Given the description of an element on the screen output the (x, y) to click on. 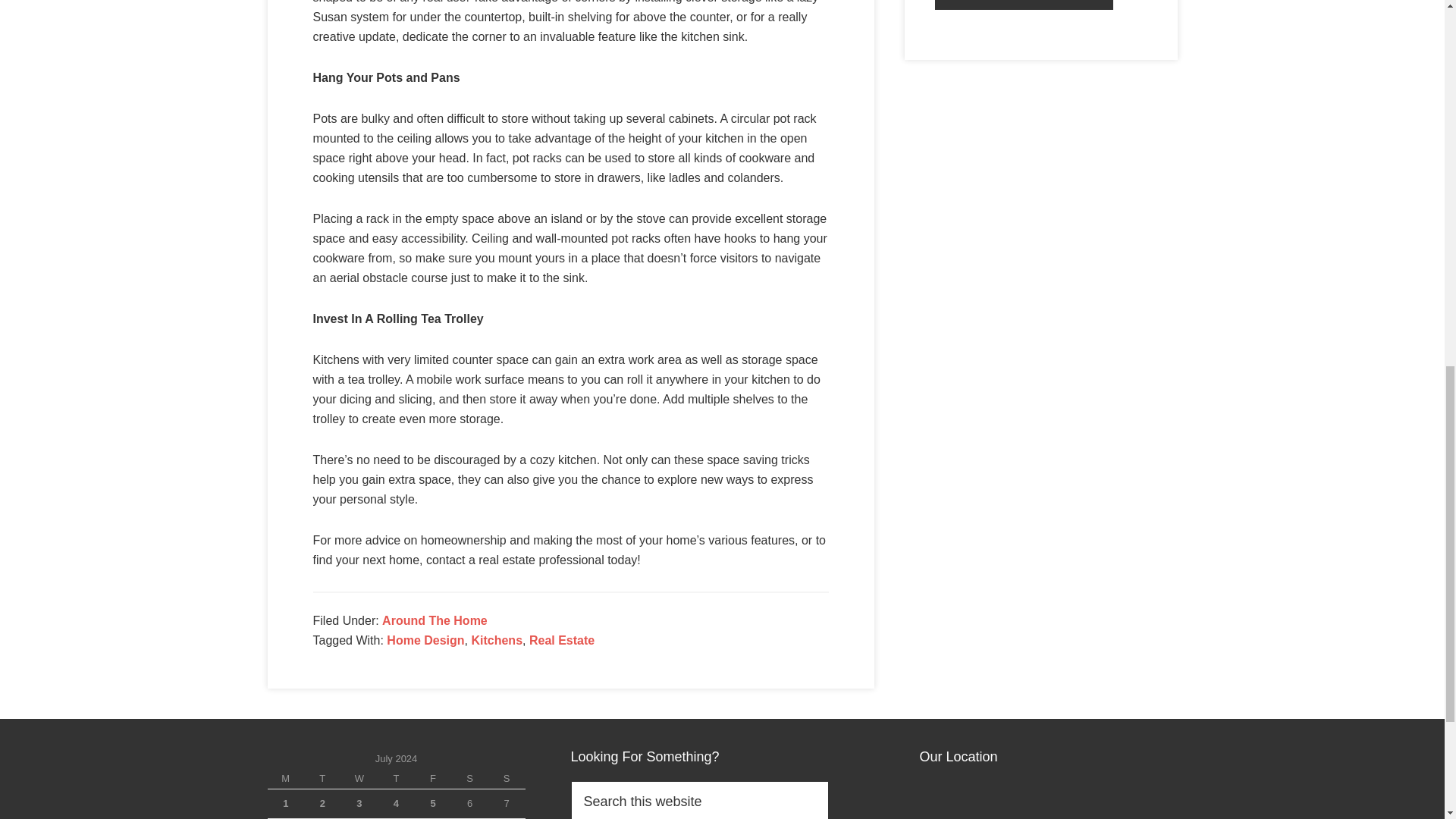
Send My Information (1023, 4)
Home Design (425, 640)
Wednesday (359, 779)
Saturday (469, 779)
Kitchens (496, 640)
Real Estate (561, 640)
Friday (432, 779)
Sunday (506, 779)
Around The Home (434, 620)
Tuesday (322, 779)
Monday (285, 779)
Thursday (395, 779)
